Given the description of an element on the screen output the (x, y) to click on. 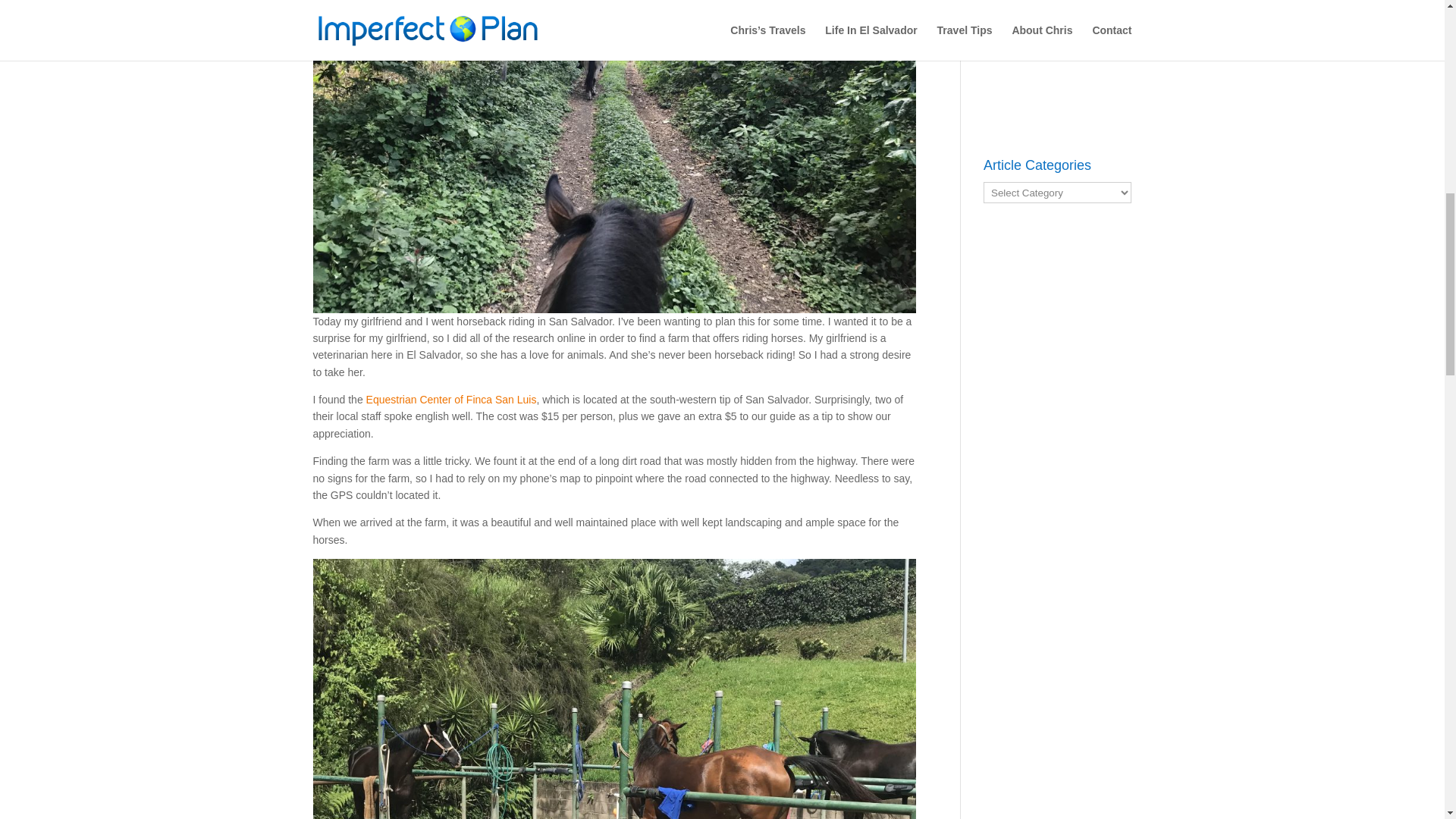
Advertisement (1057, 67)
Equestrian Center of Finca San Luis (451, 399)
